Given the description of an element on the screen output the (x, y) to click on. 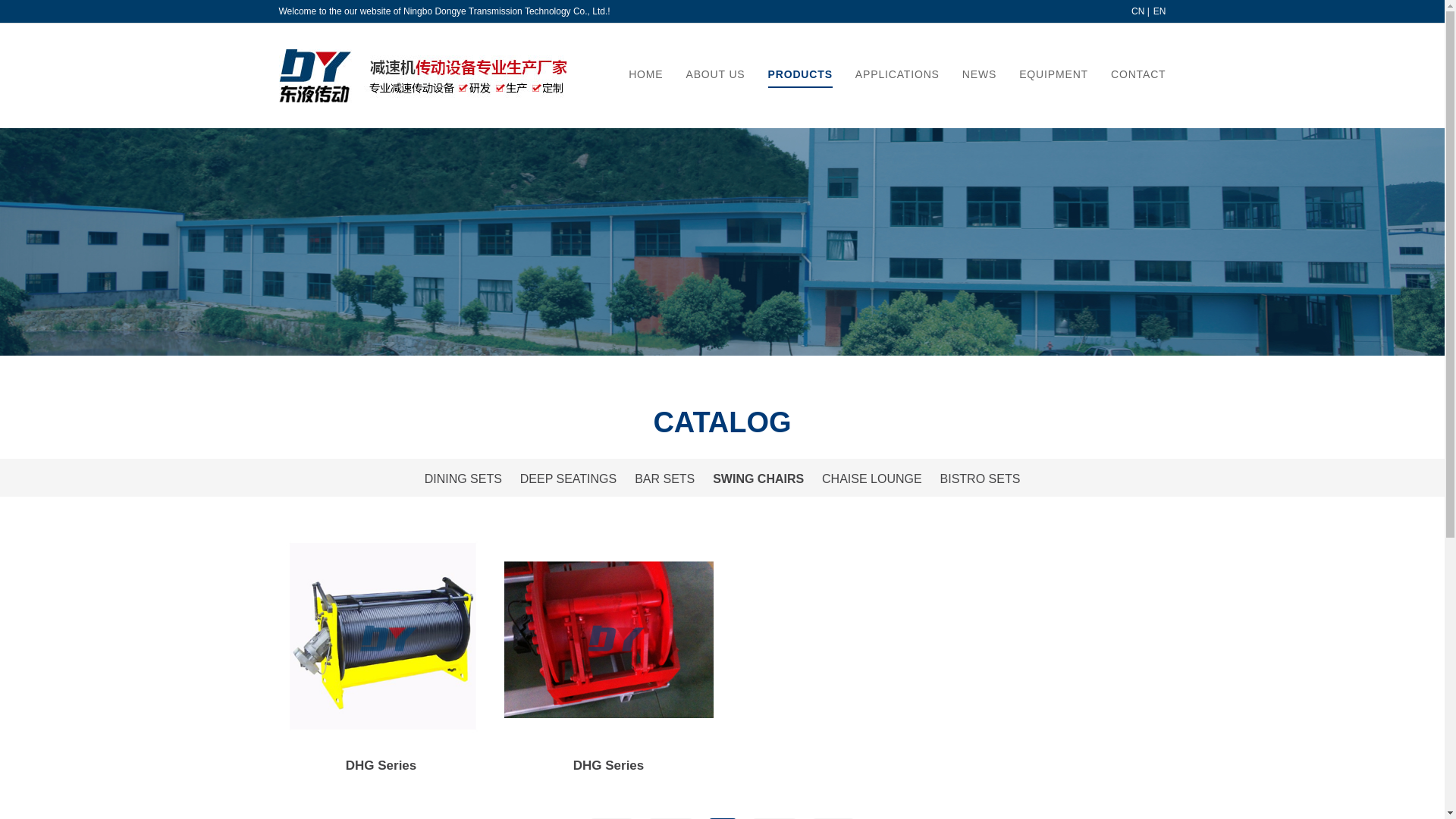
HOME Element type: text (645, 74)
BISTRO SETS Element type: text (980, 478)
NEWS Element type: text (979, 74)
DEEP SEATINGS Element type: text (568, 478)
SWING CHAIRS Element type: text (757, 478)
CONTACT Element type: text (1138, 74)
PRODUCTS Element type: text (800, 74)
CN Element type: text (1137, 11)
CHAISE LOUNGE Element type: text (872, 478)
BAR SETS Element type: text (664, 478)
DINING SETS Element type: text (463, 478)
EN Element type: text (1159, 11)
APPLICATIONS Element type: text (897, 74)
EQUIPMENT Element type: text (1053, 74)
ABOUT US Element type: text (715, 74)
